Given the description of an element on the screen output the (x, y) to click on. 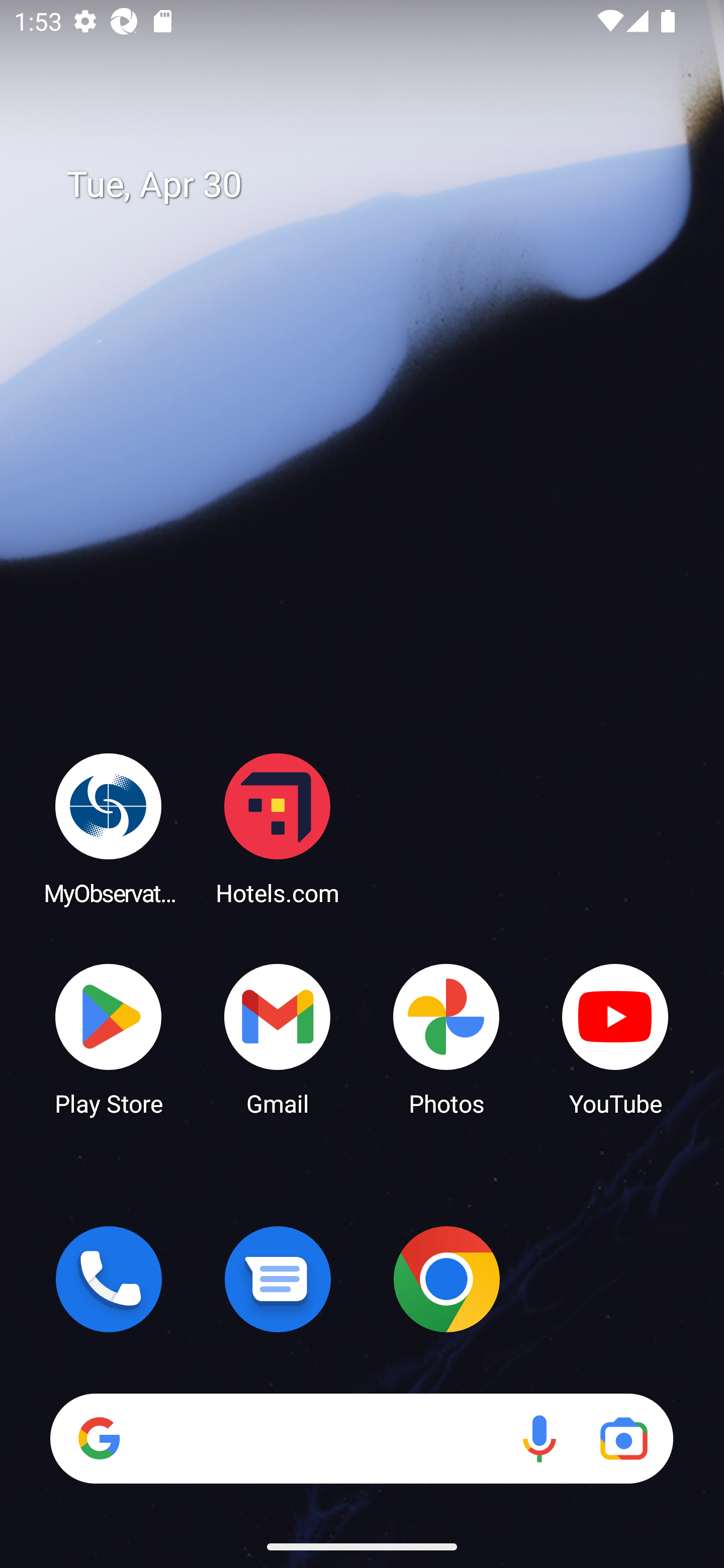
Tue, Apr 30 (375, 184)
MyObservatory (108, 828)
Hotels.com (277, 828)
Play Store (108, 1038)
Gmail (277, 1038)
Photos (445, 1038)
YouTube (615, 1038)
Phone (108, 1279)
Messages (277, 1279)
Chrome (446, 1279)
Voice search (539, 1438)
Google Lens (623, 1438)
